Given the description of an element on the screen output the (x, y) to click on. 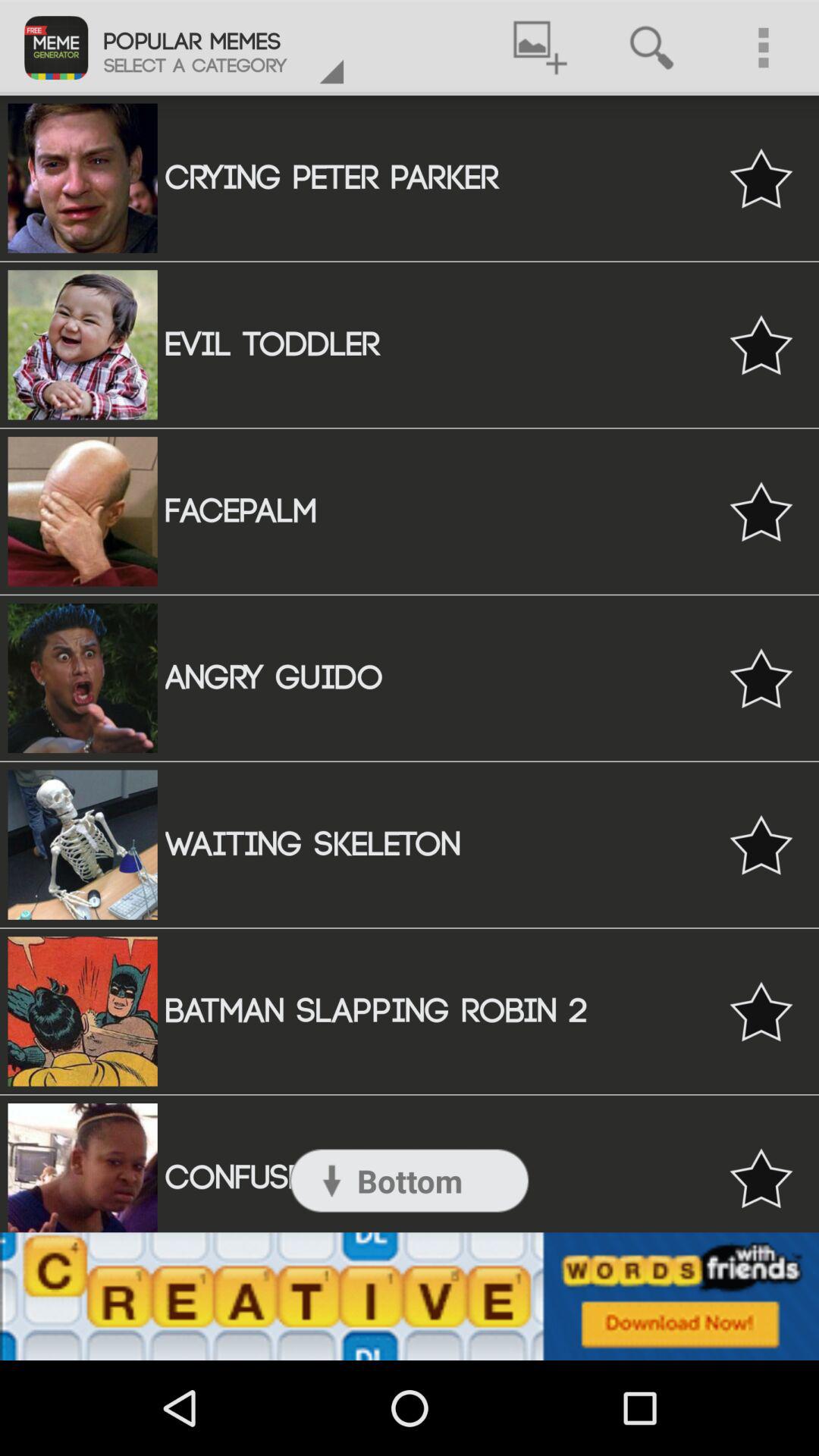
add to favorites (761, 344)
